Given the description of an element on the screen output the (x, y) to click on. 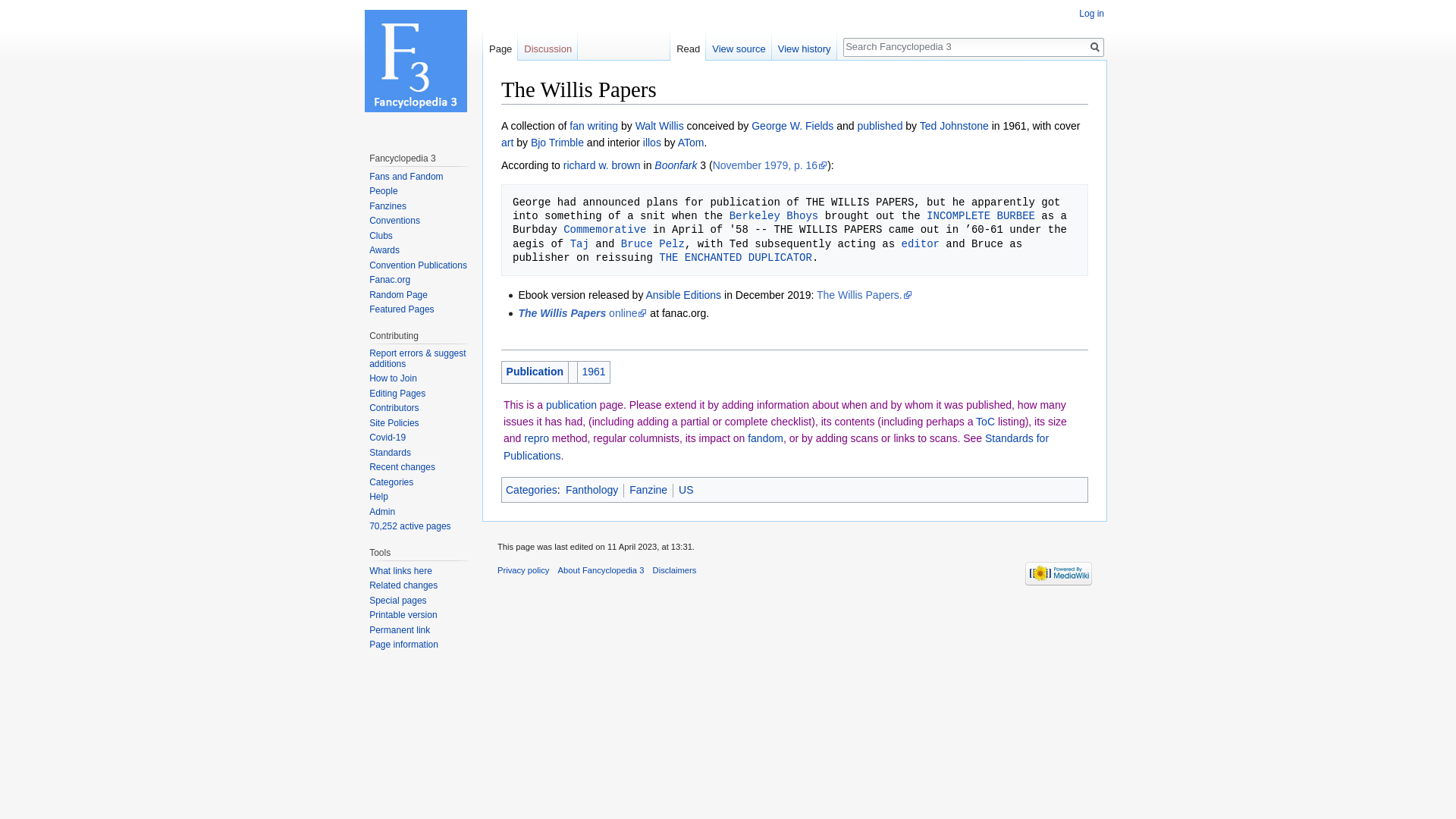
repro (536, 438)
Boonfark (675, 164)
Walt Willis (659, 125)
The Willis Papers online (582, 313)
Bruce Pelz (652, 244)
Boonfark (675, 164)
Commemorative (604, 229)
Publication (534, 371)
Taj (579, 244)
Bjo Trimble (557, 142)
